Given the description of an element on the screen output the (x, y) to click on. 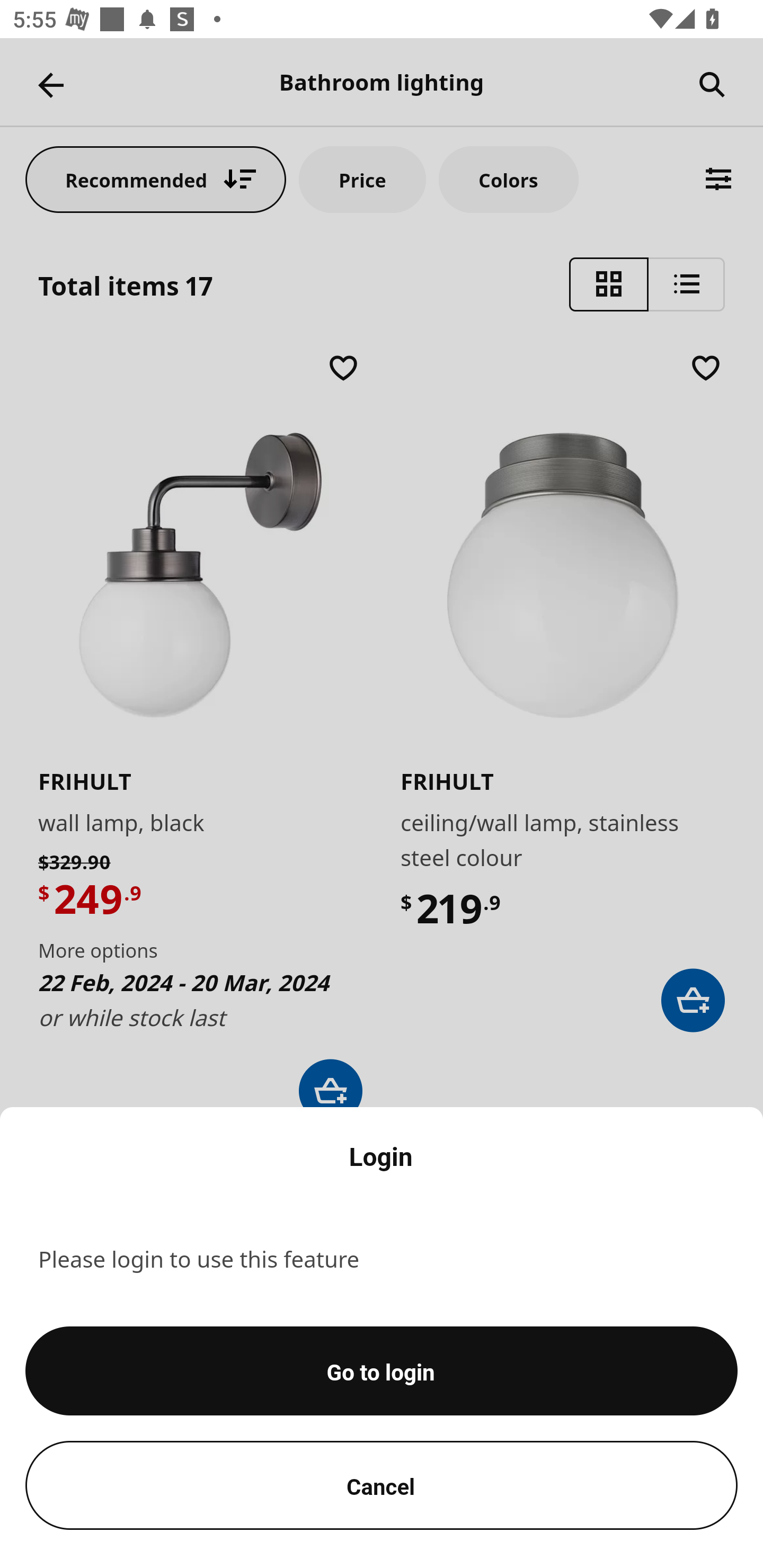
Go to login (381, 1370)
Cancel (381, 1485)
